Given the description of an element on the screen output the (x, y) to click on. 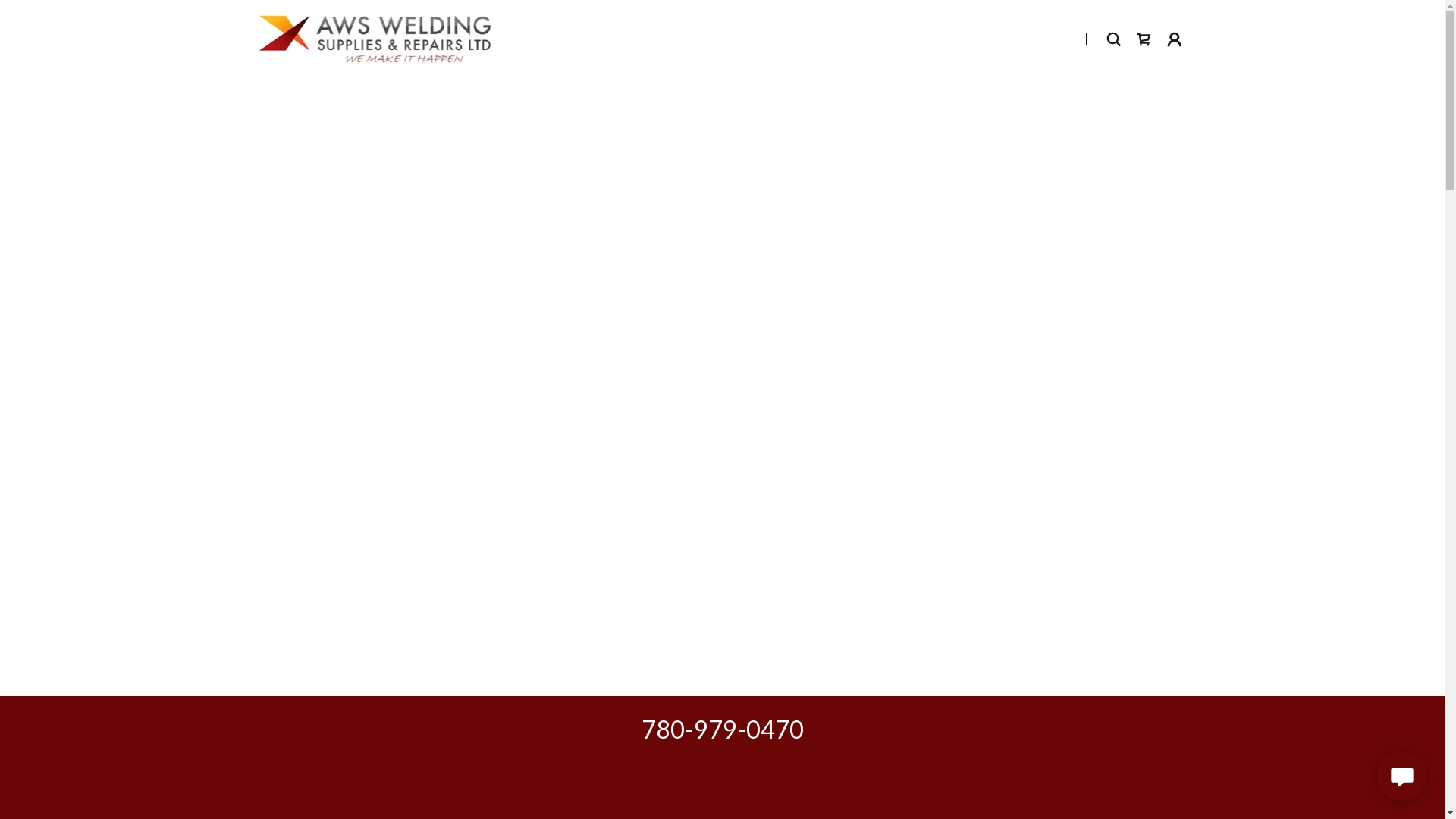
AWS Welding Supplies & Repairs Ltd. Element type: hover (374, 37)
